Given the description of an element on the screen output the (x, y) to click on. 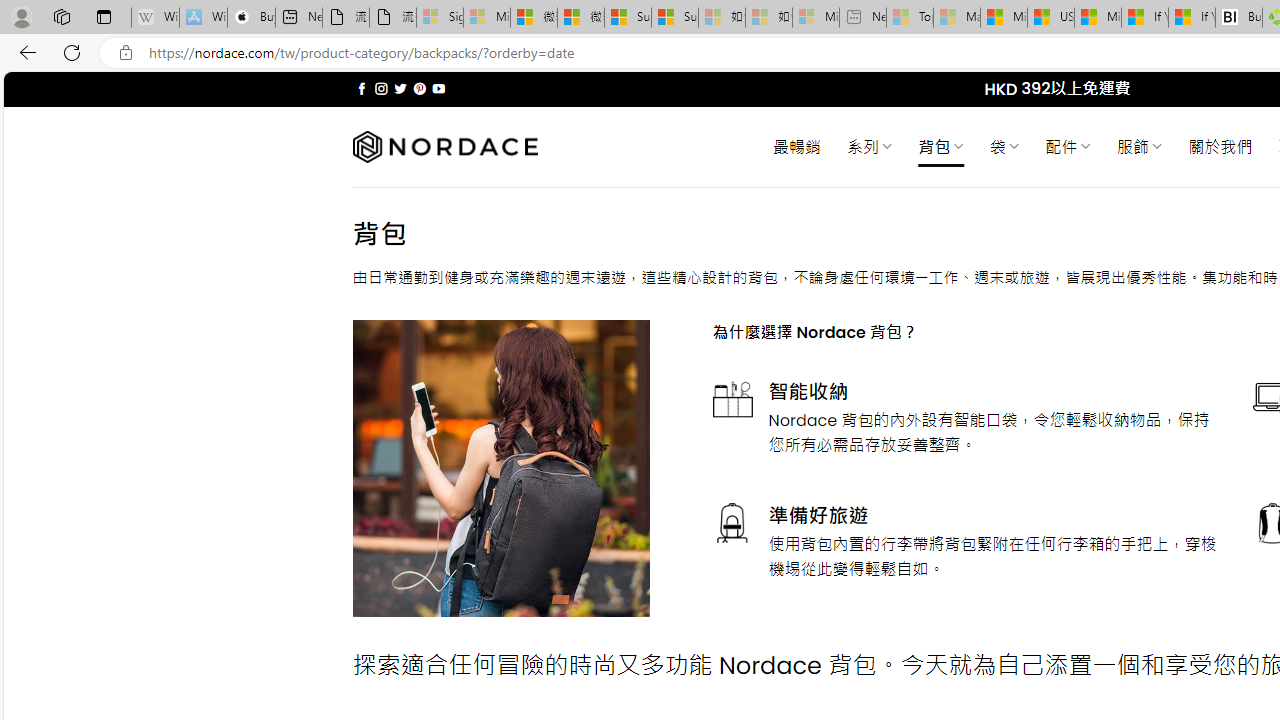
Nordace (444, 147)
